Given the description of an element on the screen output the (x, y) to click on. 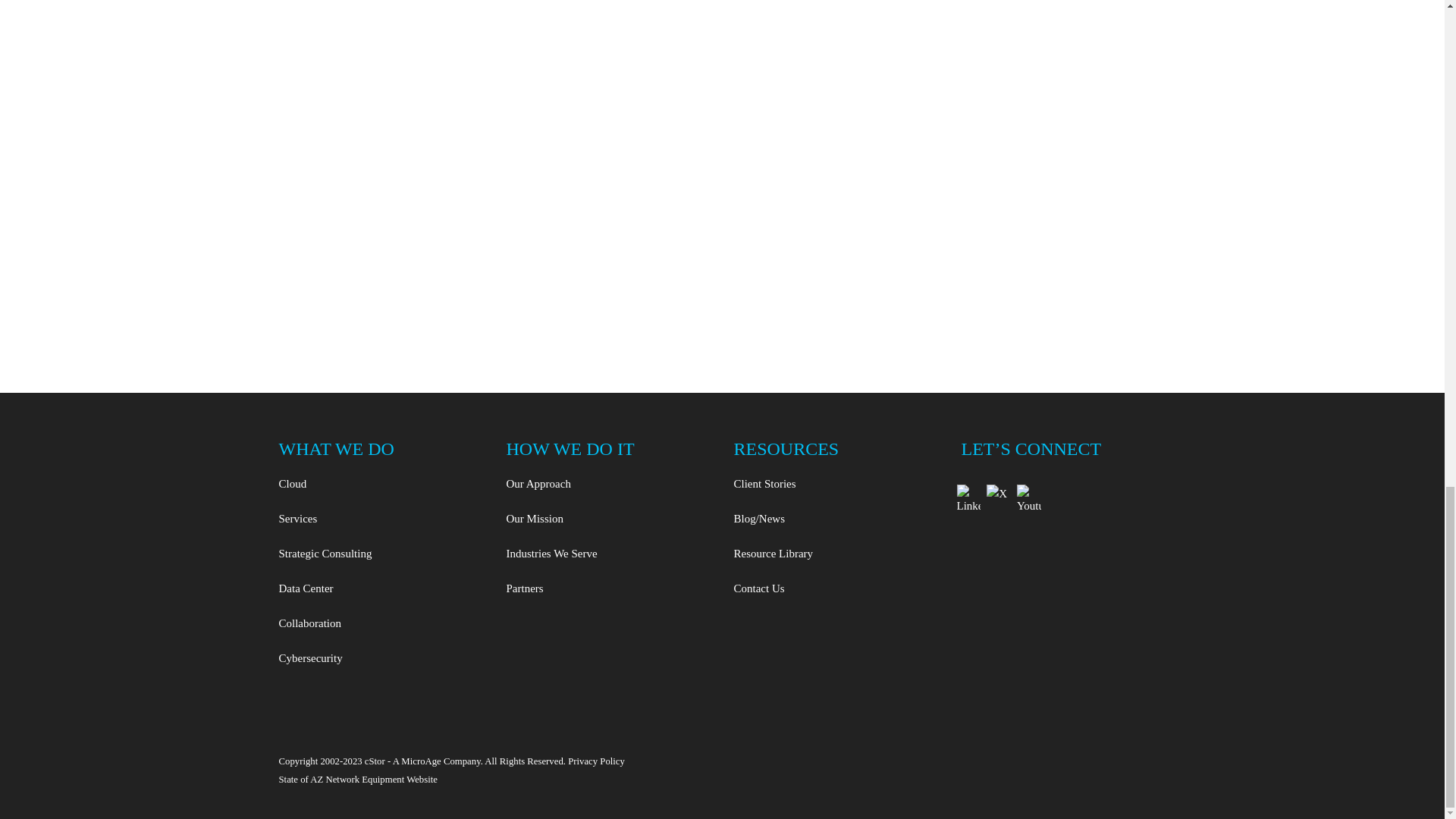
Cloud (381, 490)
